Given the description of an element on the screen output the (x, y) to click on. 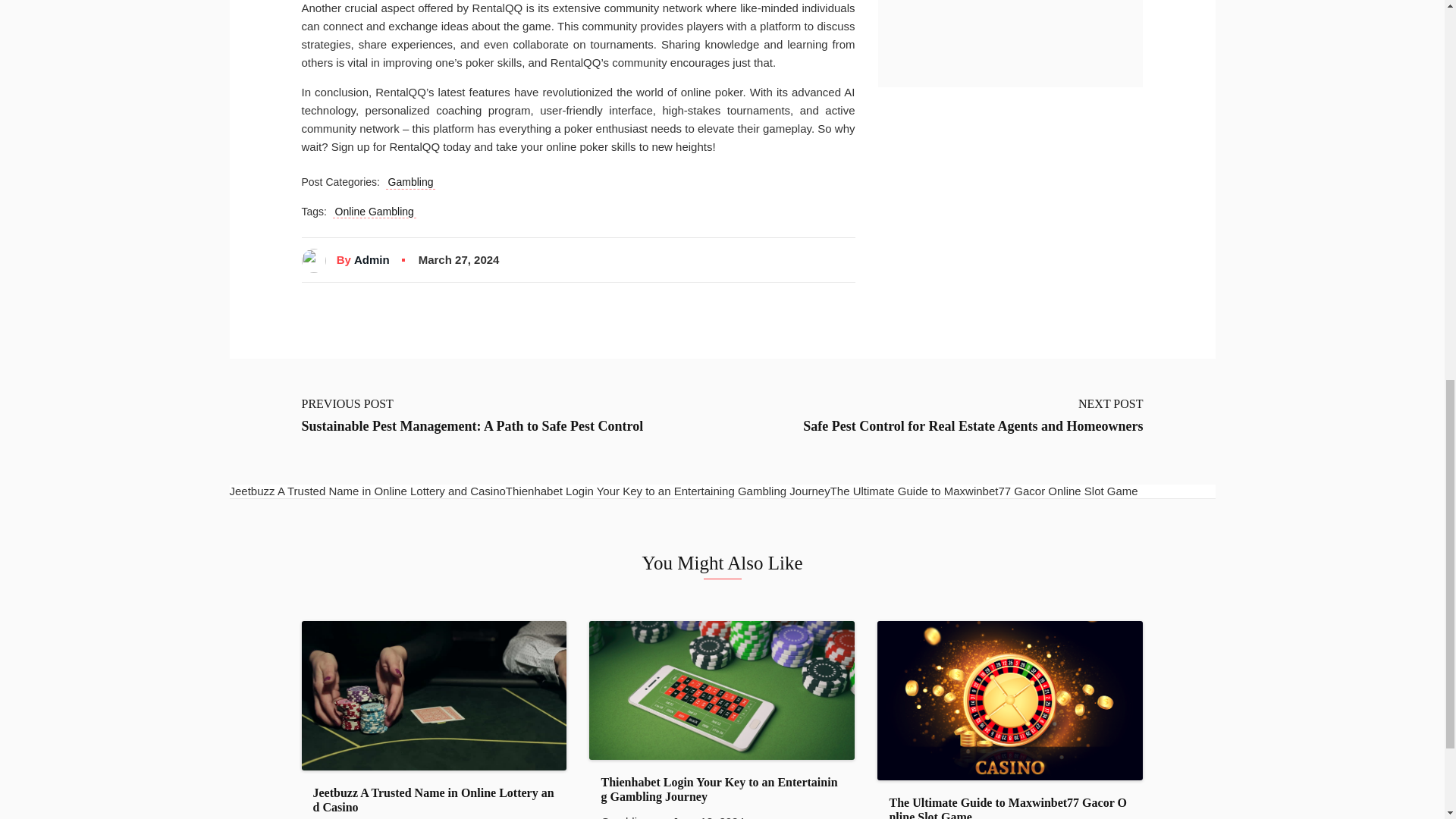
Safe Pest Control for Real Estate Agents and Homeowners (972, 426)
Gambling (410, 182)
Sustainable Pest Management: A Path to Safe Pest Control (472, 426)
Admin (371, 259)
Jeetbuzz A Trusted Name in Online Lottery and Casino (433, 799)
Online Gambling (374, 212)
